Given the description of an element on the screen output the (x, y) to click on. 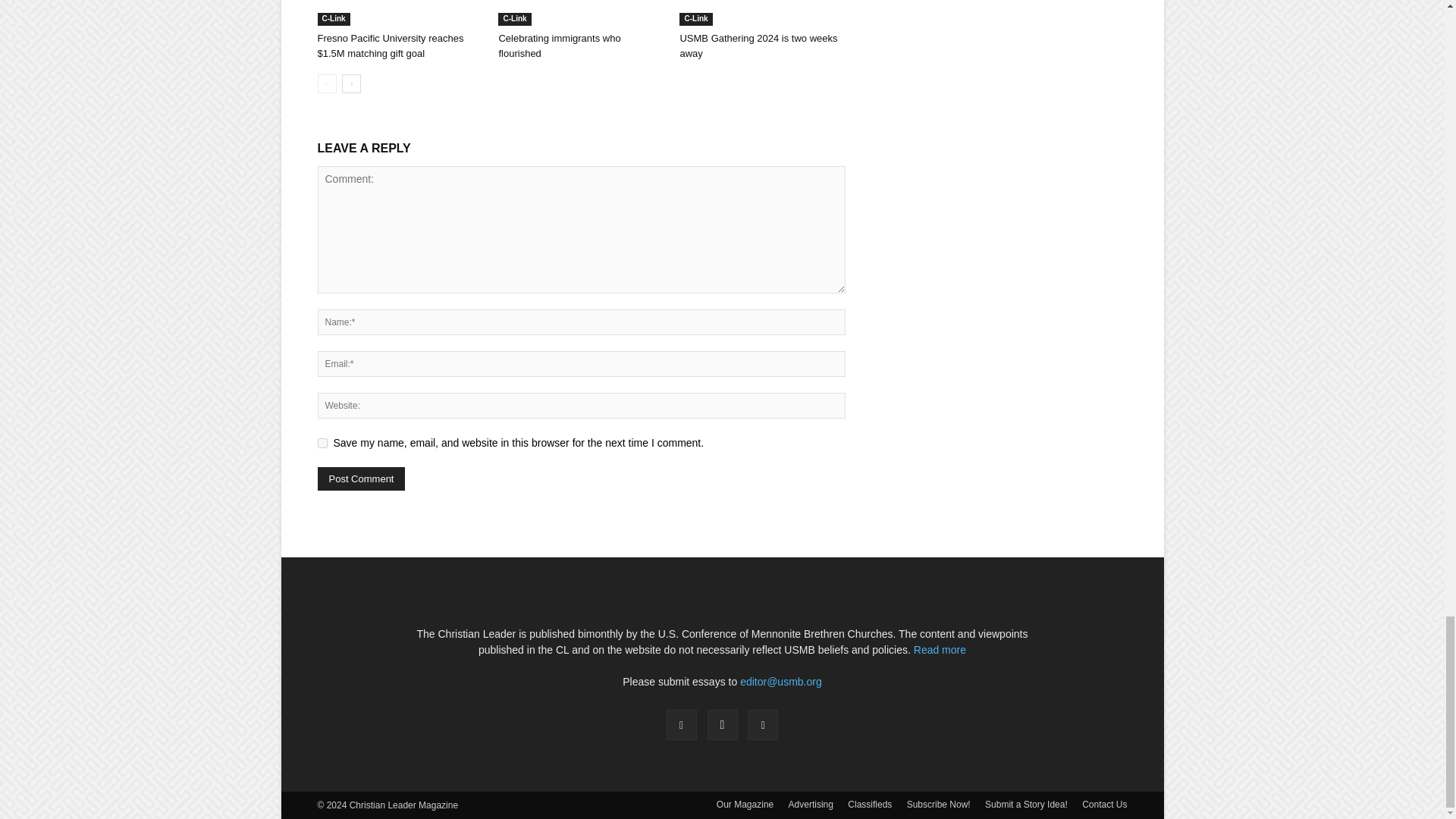
Post Comment (360, 478)
yes (321, 442)
